Given the description of an element on the screen output the (x, y) to click on. 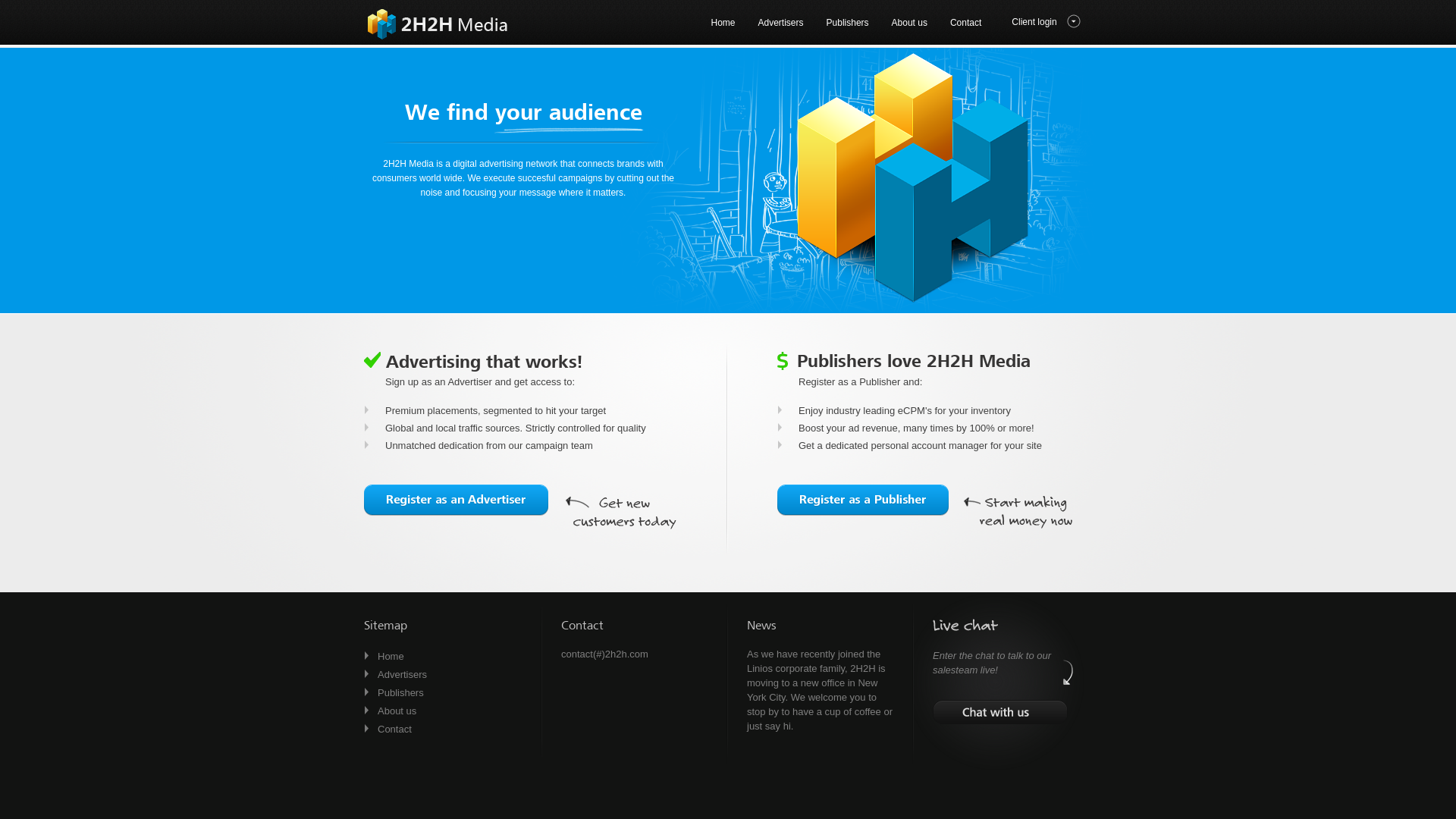
Register as a Publisher Element type: text (862, 499)
Contact Element type: text (965, 23)
Chat with us Element type: text (999, 711)
Home Element type: text (722, 23)
Register as an Advertiser Element type: text (456, 499)
About us Element type: text (909, 23)
Contact Element type: text (394, 728)
Publishers Element type: text (400, 692)
Publishers Element type: text (847, 23)
Client login Element type: text (1046, 31)
Advertisers Element type: text (401, 674)
Advertisers Element type: text (780, 23)
Home Element type: text (390, 656)
About us Element type: text (396, 710)
